Given the description of an element on the screen output the (x, y) to click on. 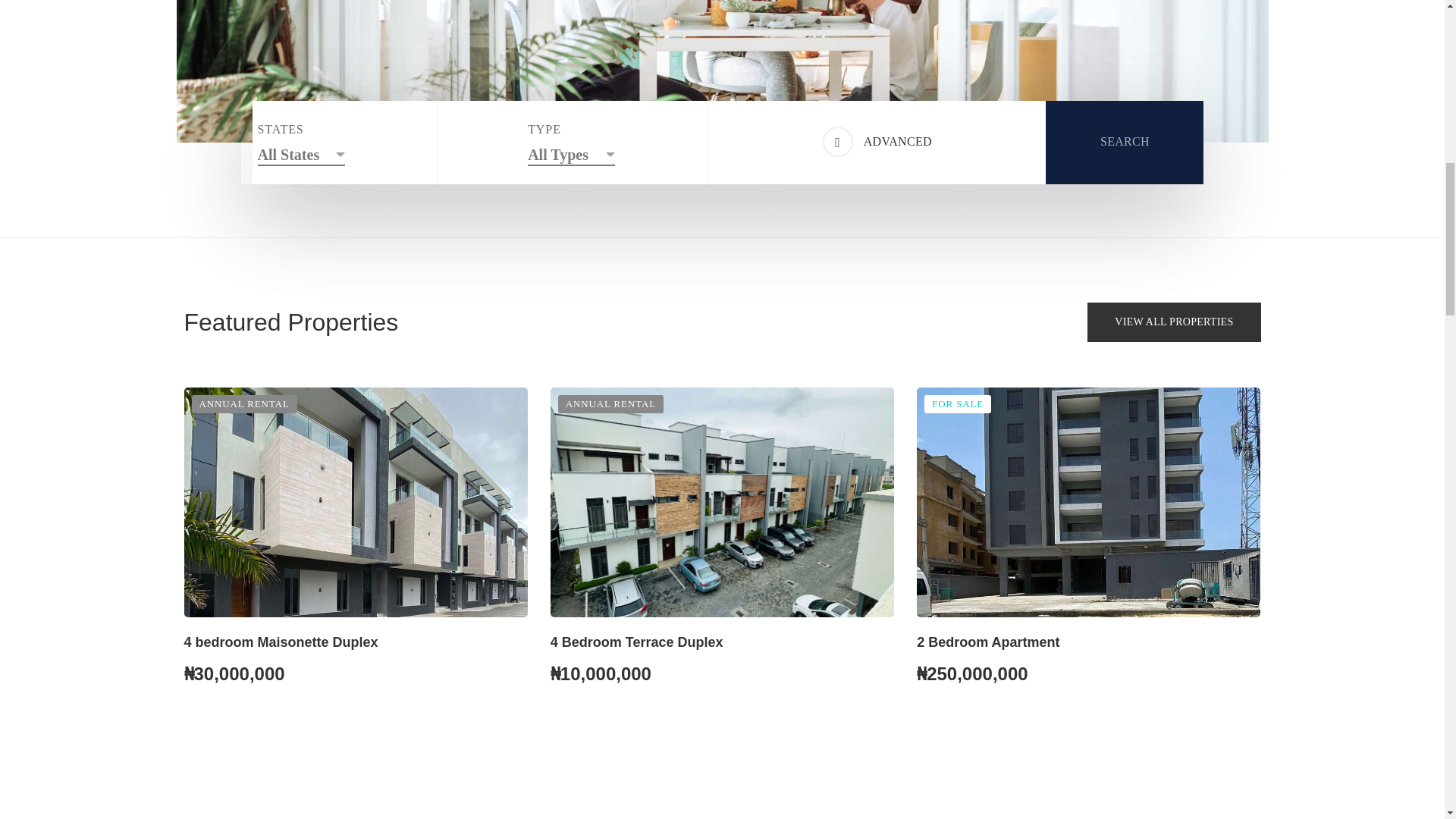
SEARCH (1124, 141)
All Types (570, 150)
VIEW ALL PROPERTIES (1173, 322)
4 bedroom Maisonette Duplex (355, 501)
2 Bedroom Apartment (988, 641)
4 bedroom Maisonette Duplex (280, 641)
All Types (570, 150)
4 Bedroom Terrace Duplex (636, 641)
All States (301, 150)
ADVANCED (876, 141)
All States (301, 150)
